Given the description of an element on the screen output the (x, y) to click on. 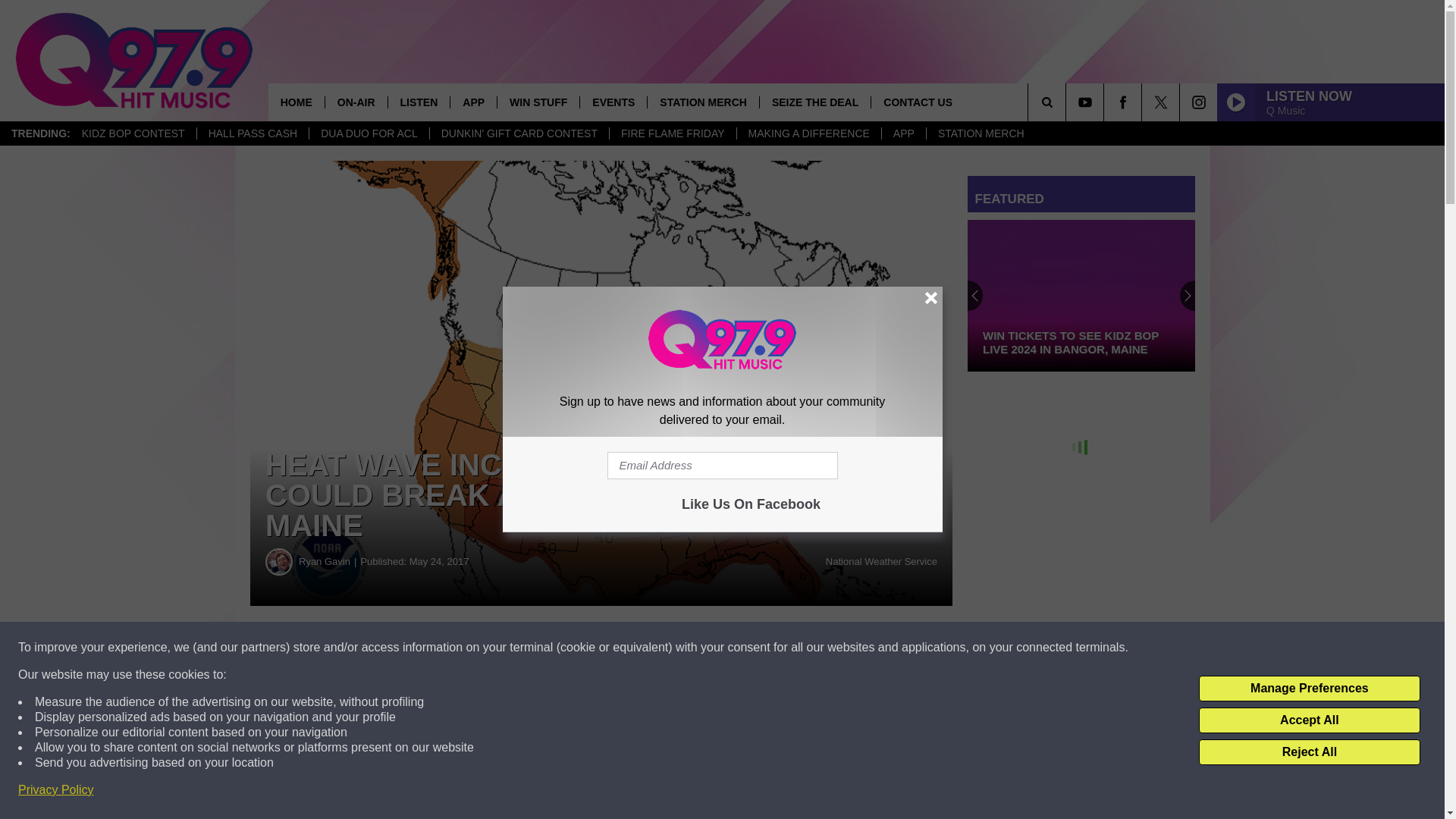
Accept All (1309, 720)
SEARCH (1068, 102)
APP (903, 133)
Reject All (1309, 751)
Privacy Policy (55, 789)
KIDZ BOP CONTEST (132, 133)
DUNKIN' GIFT CARD CONTEST (518, 133)
STATION MERCH (980, 133)
LISTEN (418, 102)
SEARCH (1068, 102)
EVENTS (612, 102)
FIRE FLAME FRIDAY (672, 133)
Share on Facebook (460, 647)
Share on Twitter (741, 647)
WIN STUFF (537, 102)
